Given the description of an element on the screen output the (x, y) to click on. 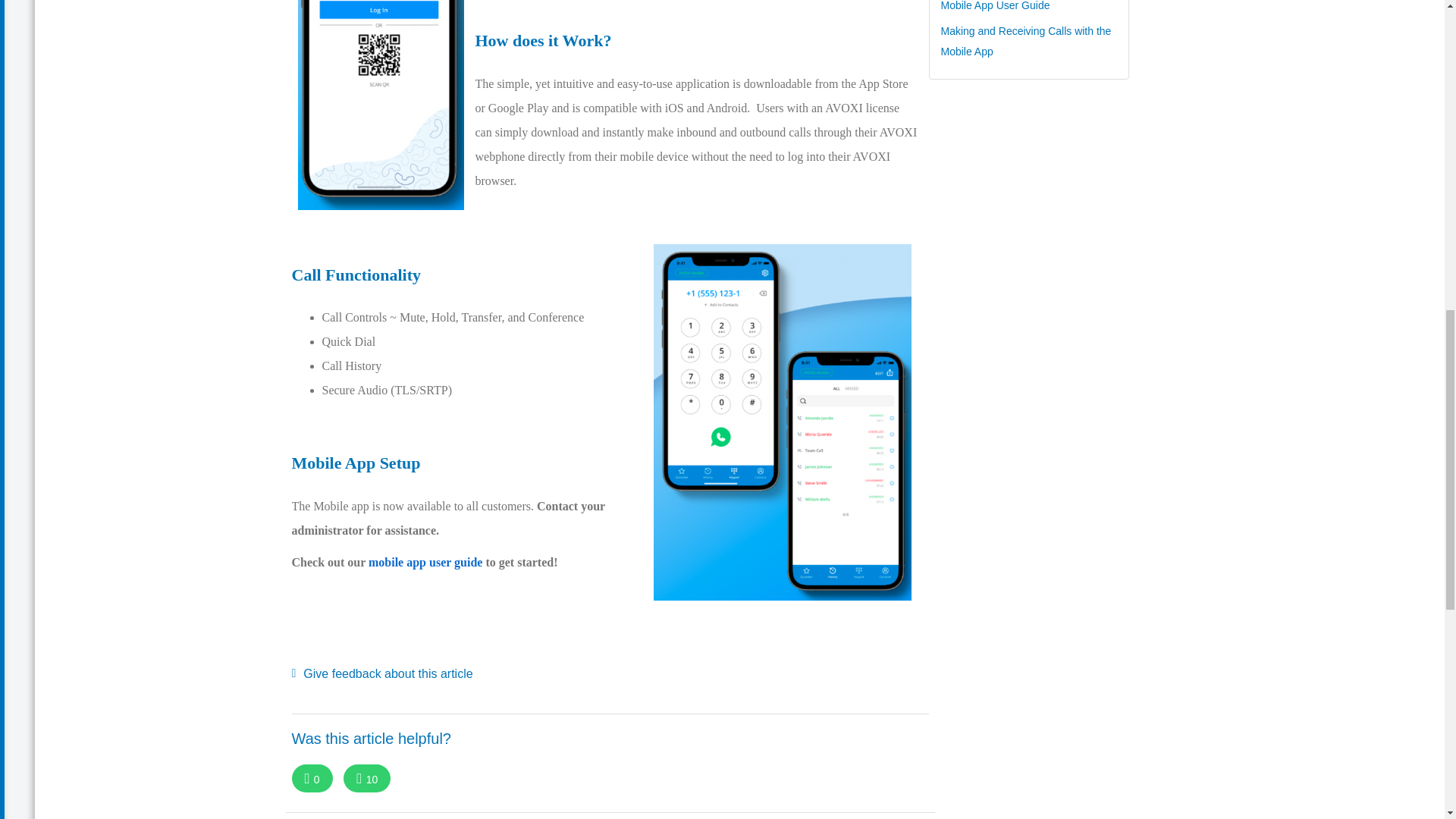
Making and Receiving Calls with the Mobile App (1025, 41)
Give feedback about this article (381, 673)
10 (366, 778)
mobile app user guide (424, 562)
0 (311, 778)
Mobile App User Guide (994, 5)
